Given the description of an element on the screen output the (x, y) to click on. 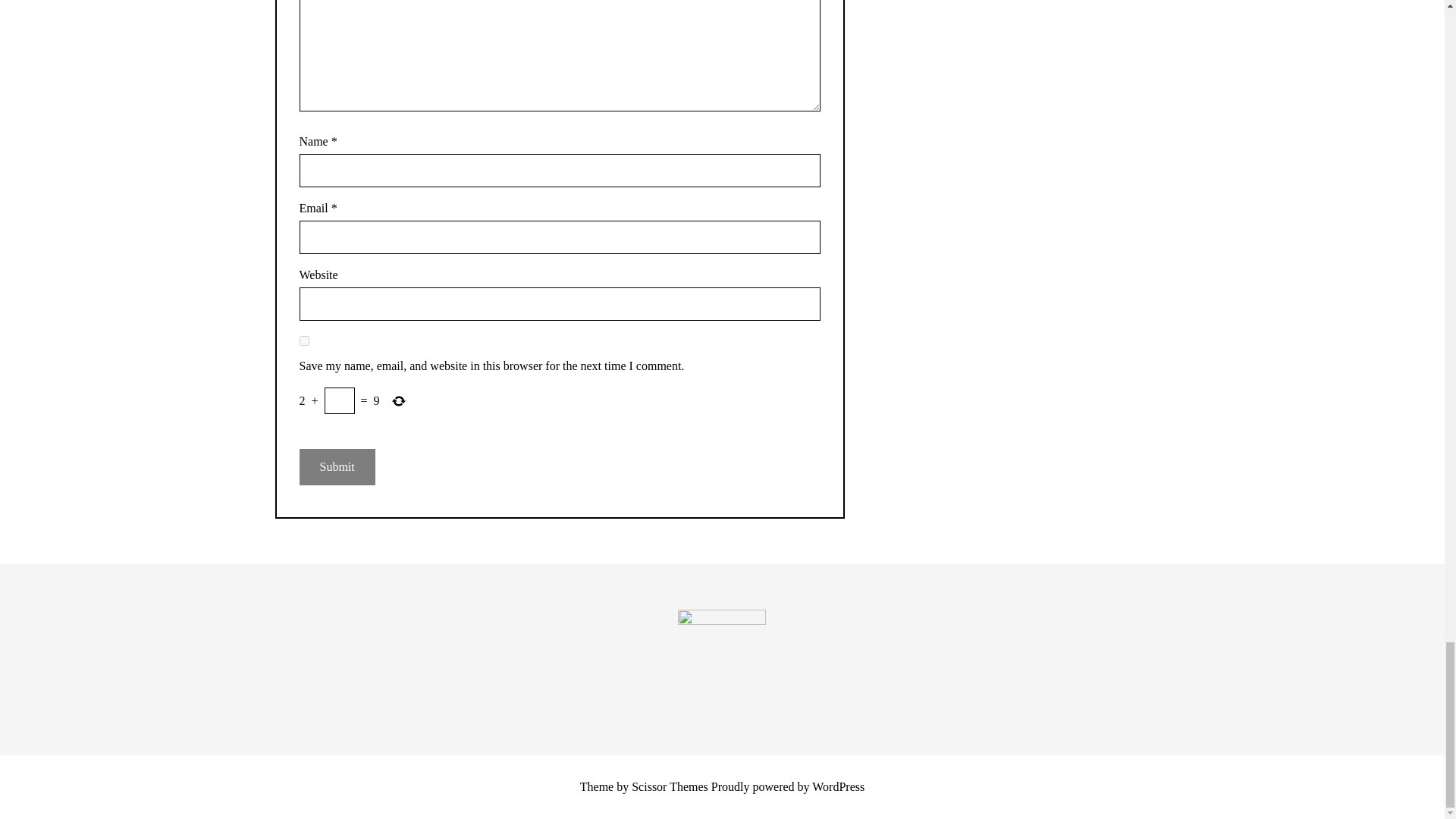
Submit (336, 466)
yes (303, 340)
